Given the description of an element on the screen output the (x, y) to click on. 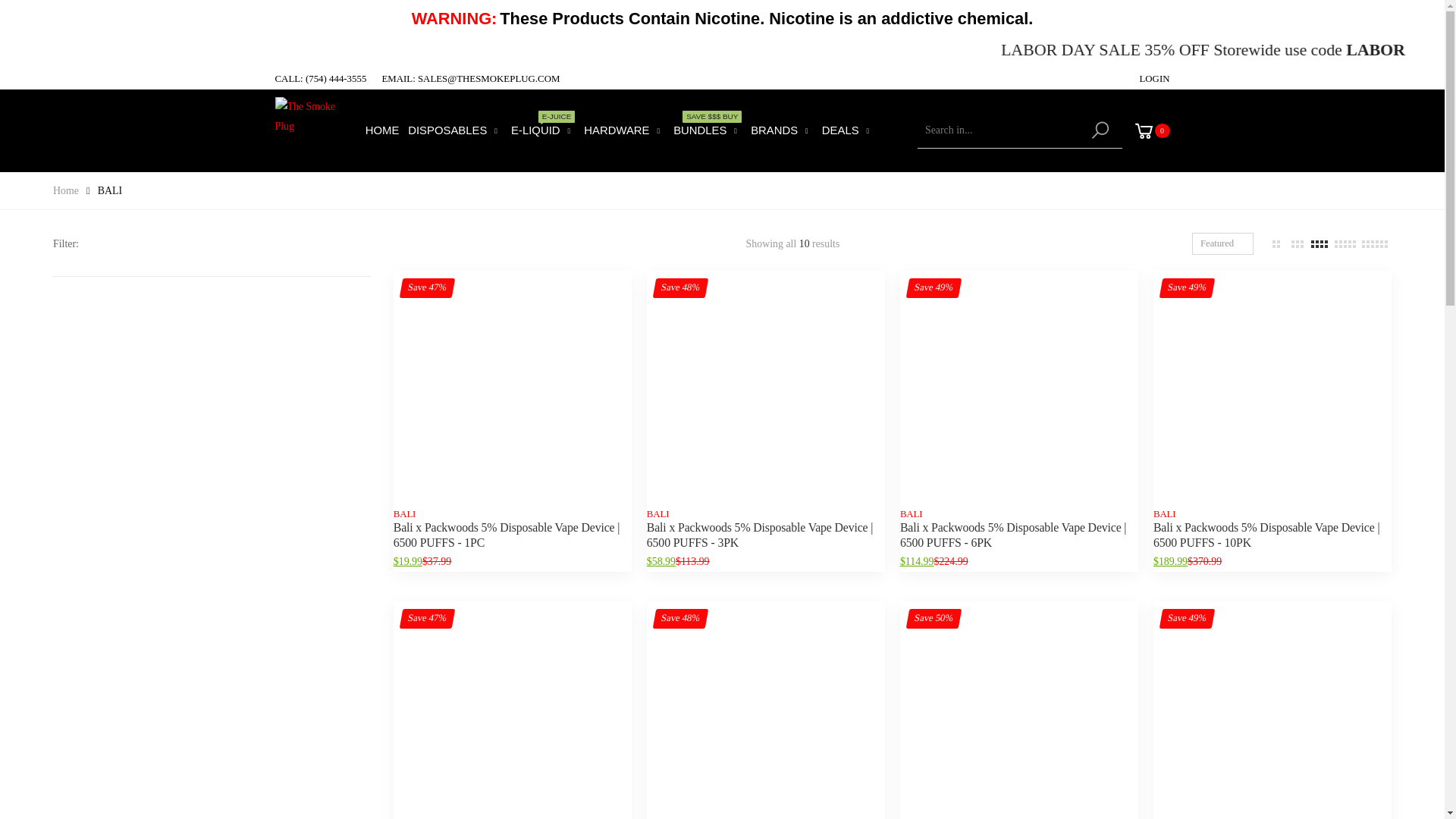
LOGIN (1153, 78)
5 Columns (1345, 243)
6 Columns (1374, 243)
DISPOSABLES (454, 130)
Home (65, 190)
